Given the description of an element on the screen output the (x, y) to click on. 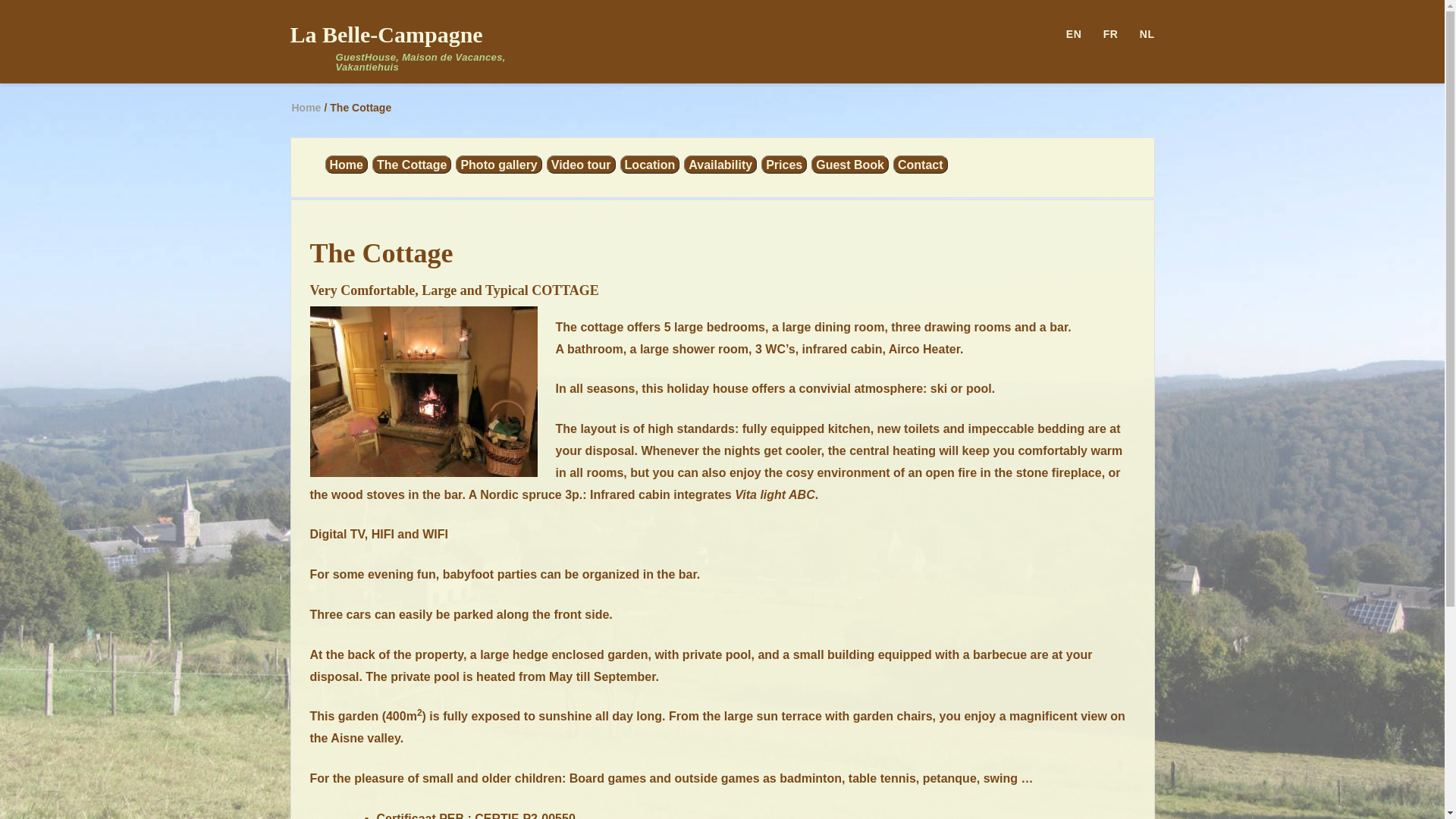
Video tour Element type: text (580, 164)
Availability Element type: text (720, 164)
EN Element type: text (1064, 33)
Location Element type: text (650, 164)
Home Element type: text (345, 164)
FR Element type: text (1101, 33)
The Cottage Element type: text (411, 164)
Guest Book Element type: text (849, 164)
Photo gallery Element type: text (498, 164)
La Belle-Campagne Element type: text (385, 34)
Home Element type: text (305, 107)
NL Element type: text (1137, 33)
Contact Element type: text (920, 164)
Prices Element type: text (783, 164)
